Given the description of an element on the screen output the (x, y) to click on. 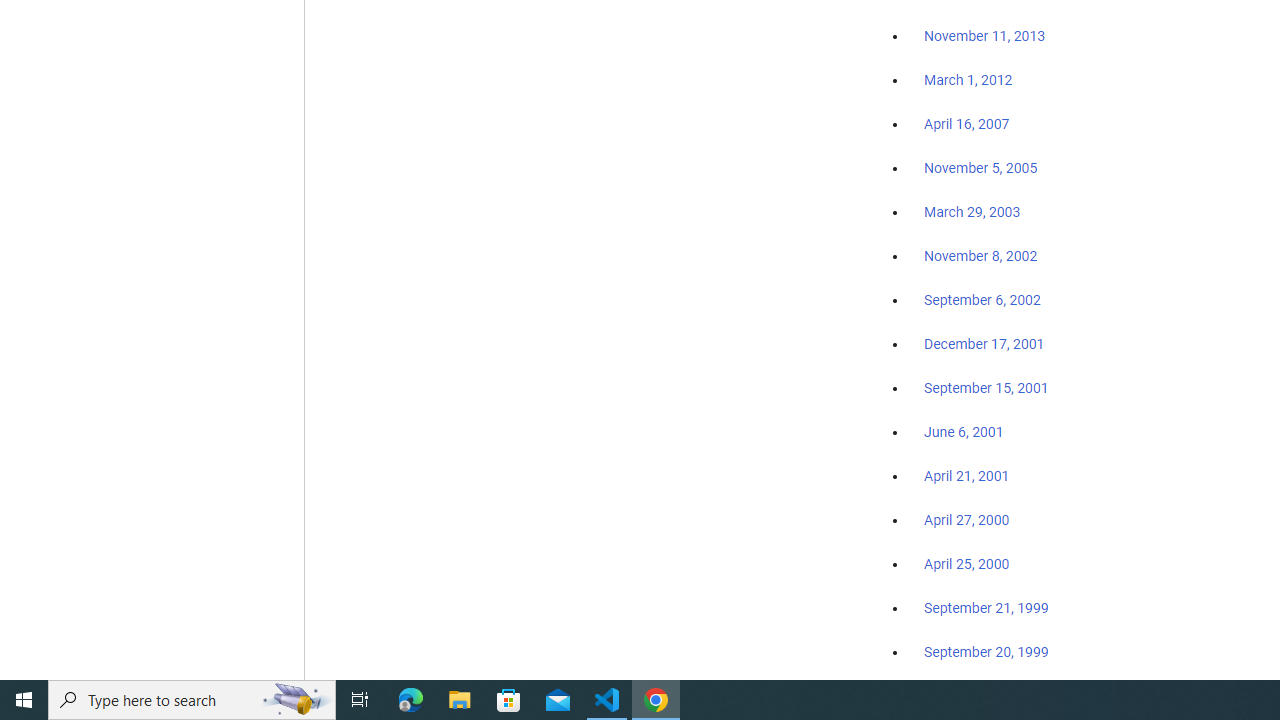
April 21, 2001 (966, 476)
September 6, 2002 (982, 299)
September 21, 1999 (986, 608)
April 25, 2000 (966, 564)
March 29, 2003 (972, 212)
April 16, 2007 (966, 124)
November 11, 2013 (984, 37)
December 17, 2001 (984, 343)
September 15, 2001 (986, 387)
November 5, 2005 (981, 168)
March 1, 2012 (968, 81)
November 8, 2002 (981, 255)
April 27, 2000 (966, 520)
June 6, 2001 (963, 431)
September 20, 1999 (986, 651)
